Given the description of an element on the screen output the (x, y) to click on. 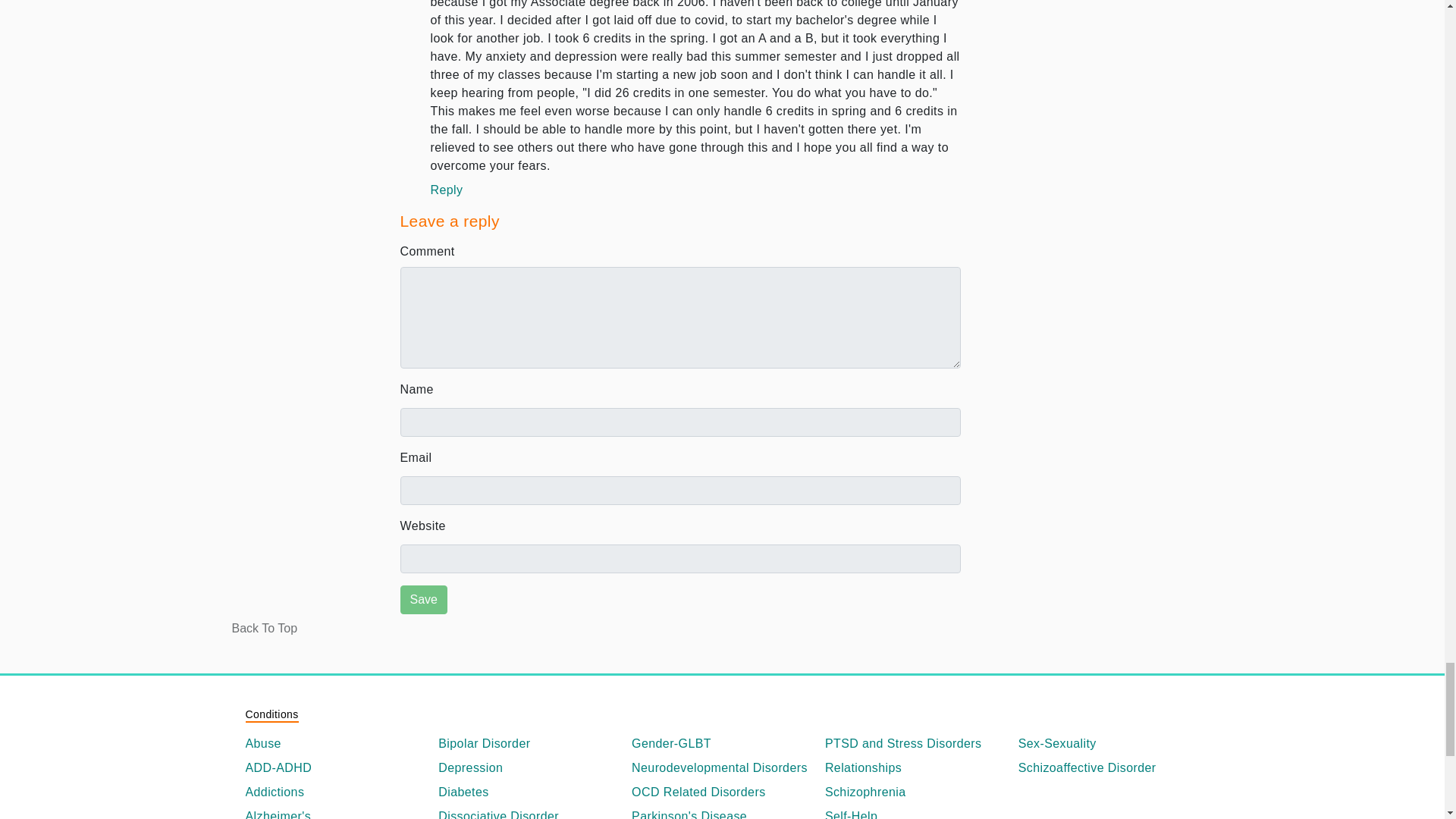
Parkinson's Disease Information Articles (721, 813)
